Given the description of an element on the screen output the (x, y) to click on. 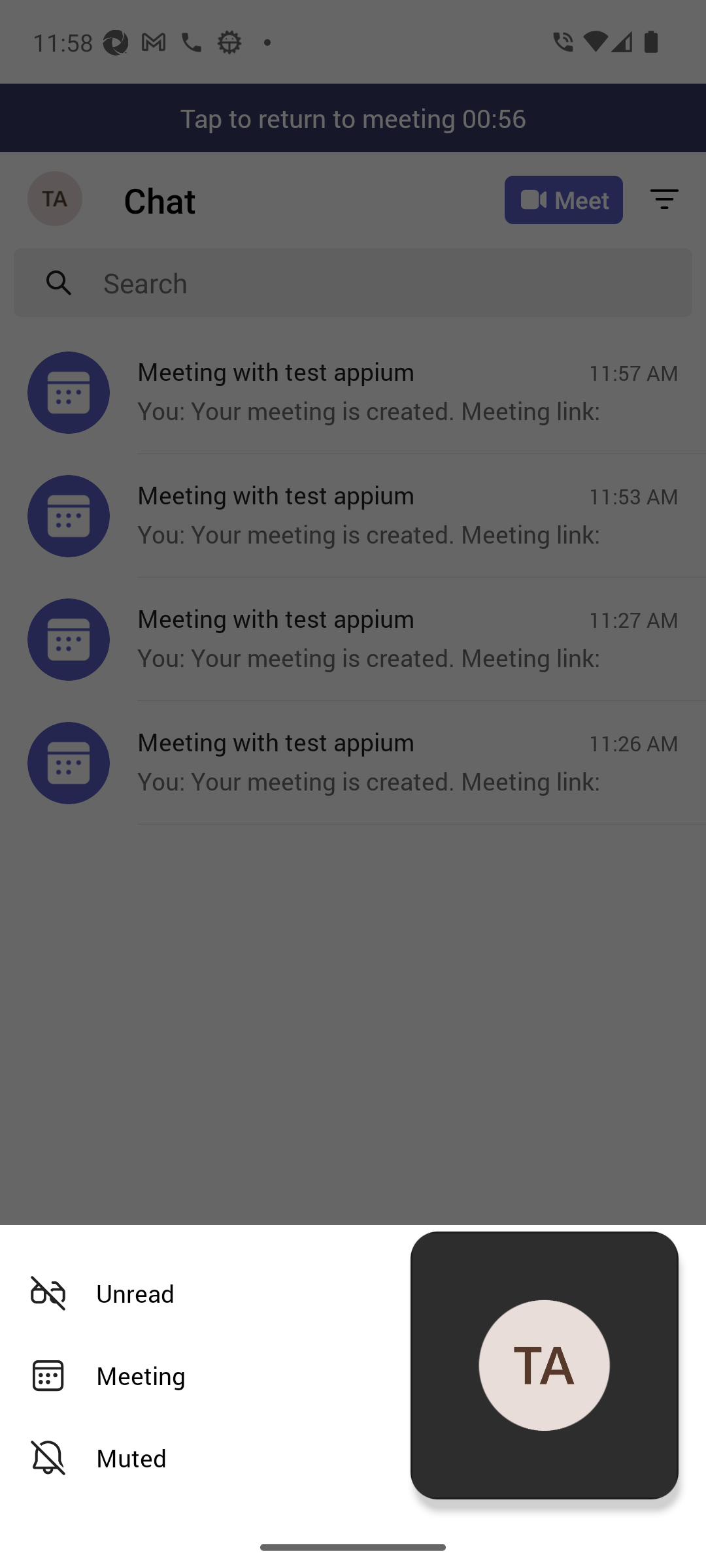
Unread (346, 1293)
Meeting (346, 1375)
Muted (346, 1458)
